Given the description of an element on the screen output the (x, y) to click on. 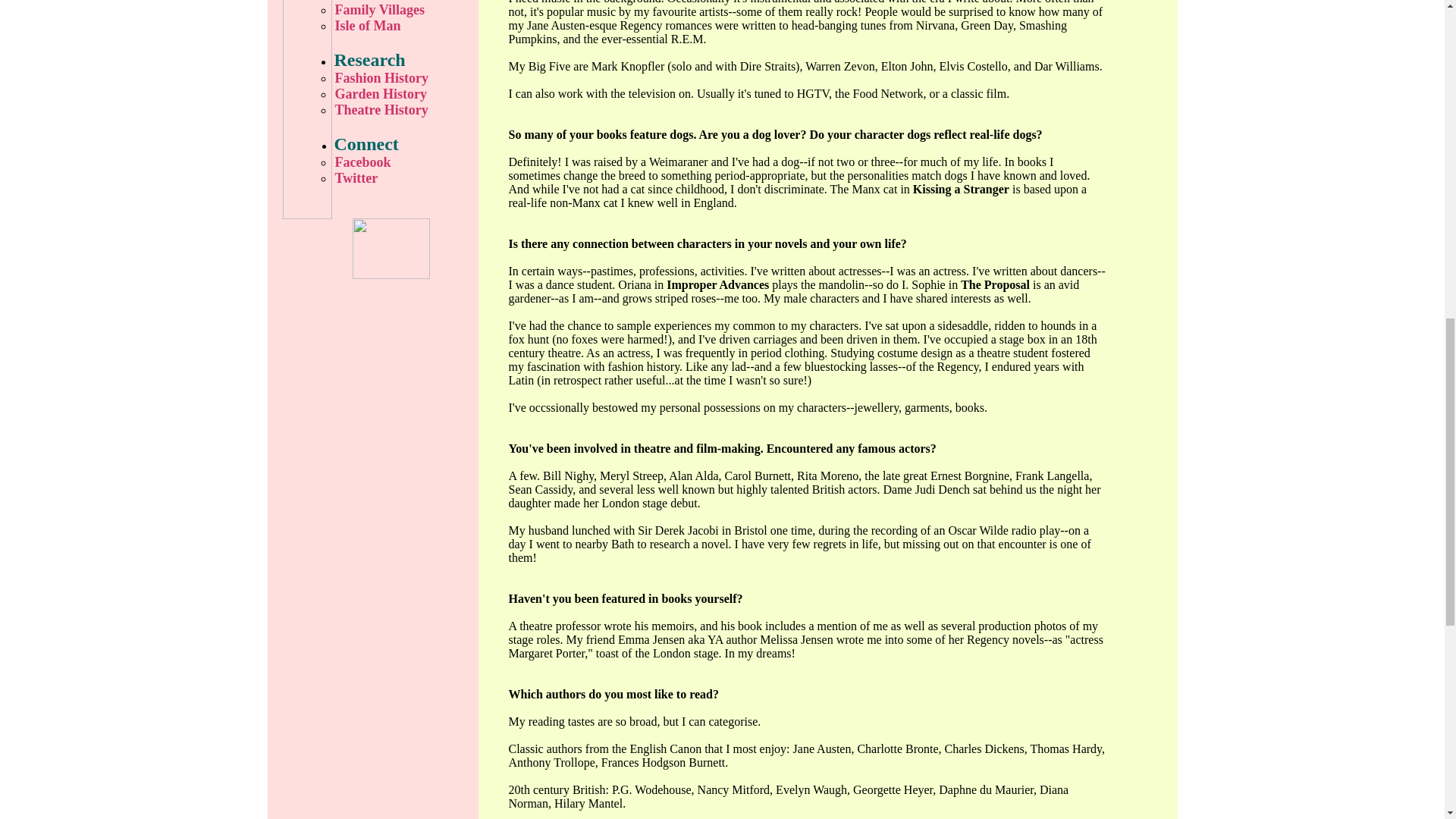
Twitter (402, 178)
Fashion History (402, 78)
Family Villages (402, 10)
Theatre History (402, 109)
Shires (402, 1)
Isle of Man (402, 26)
Garden History (402, 94)
Facebook (402, 162)
